Given the description of an element on the screen output the (x, y) to click on. 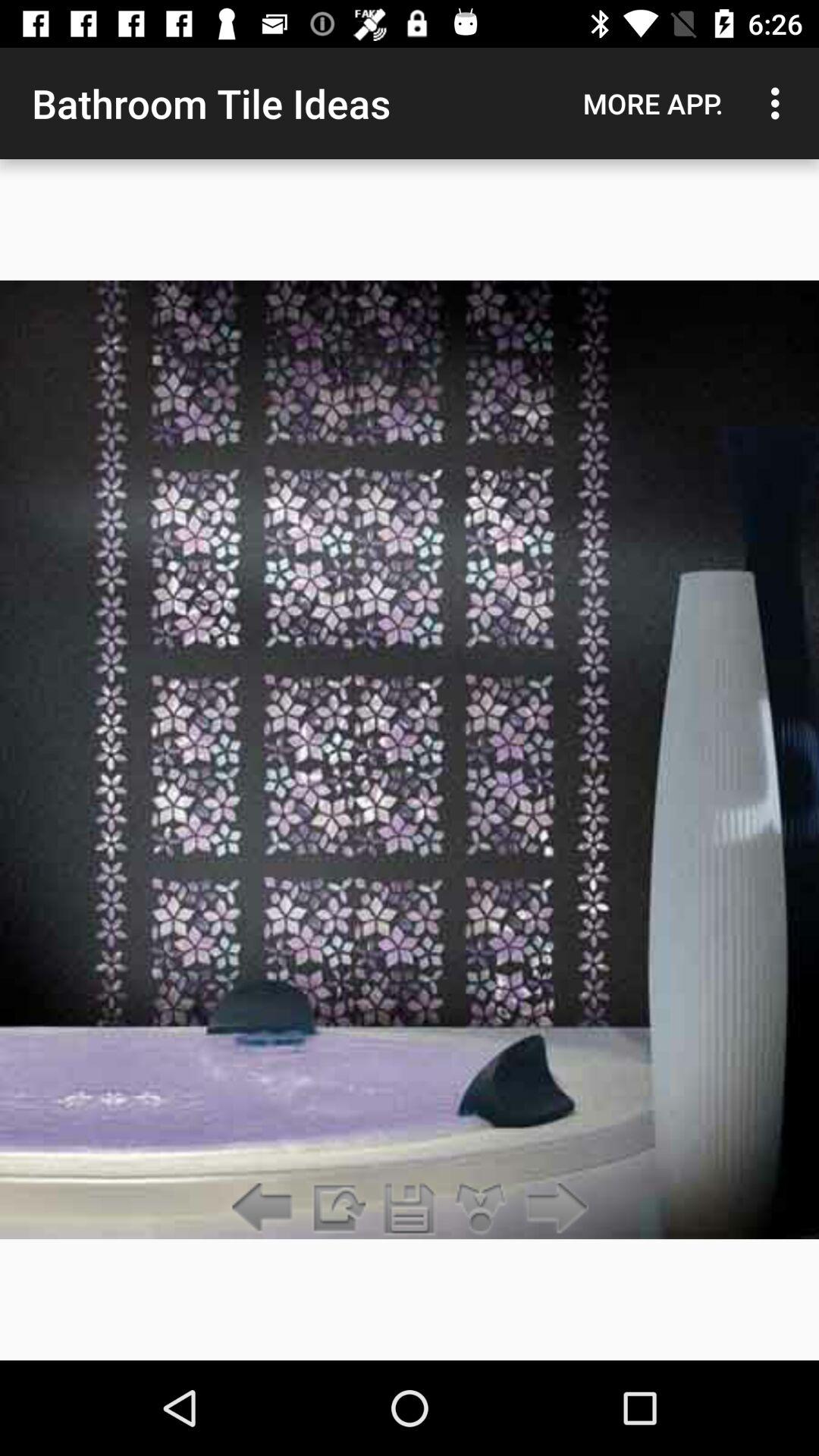
choose the more app. icon (653, 103)
